Given the description of an element on the screen output the (x, y) to click on. 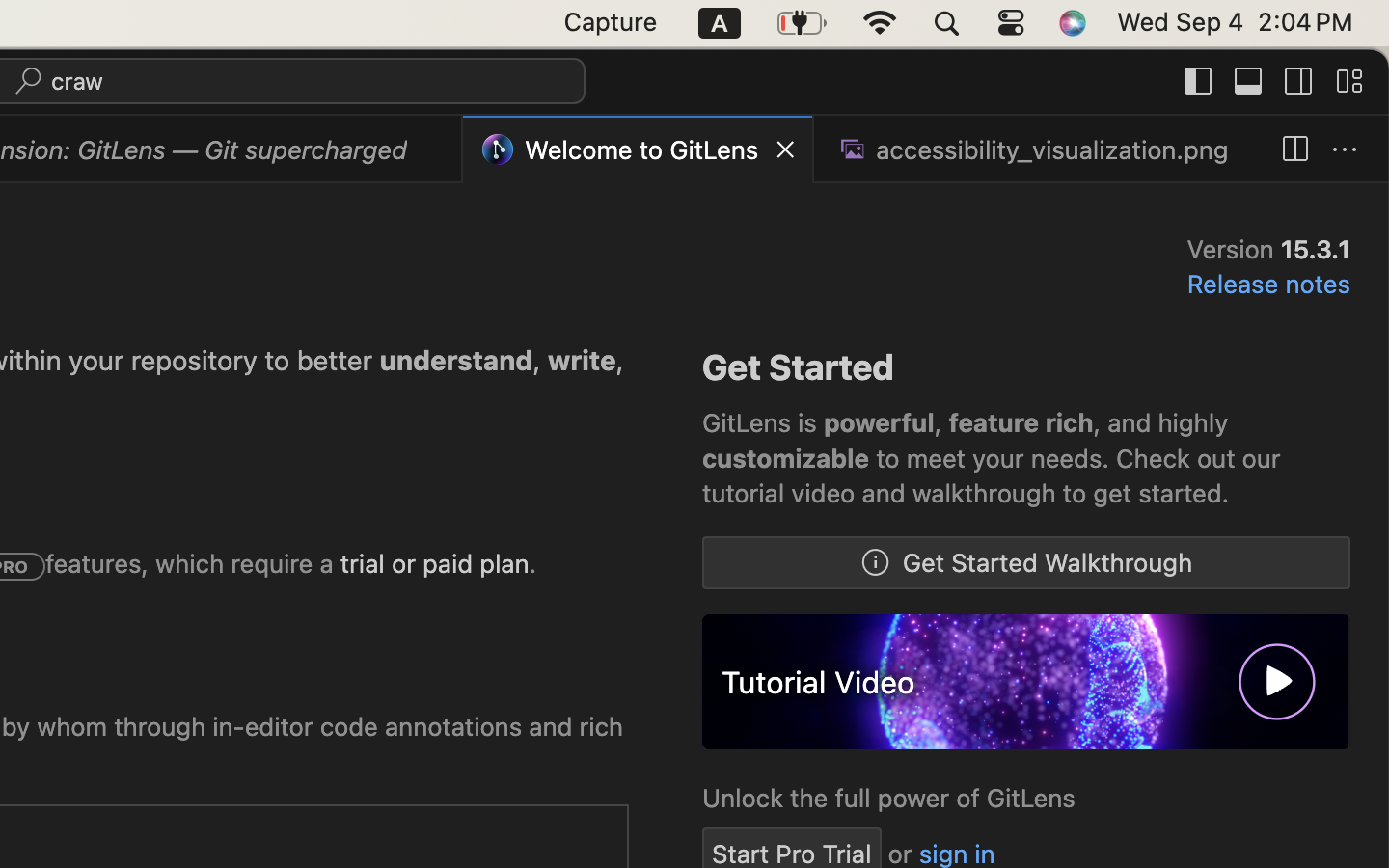
Get Started Element type: AXStaticText (798, 367)
